Given the description of an element on the screen output the (x, y) to click on. 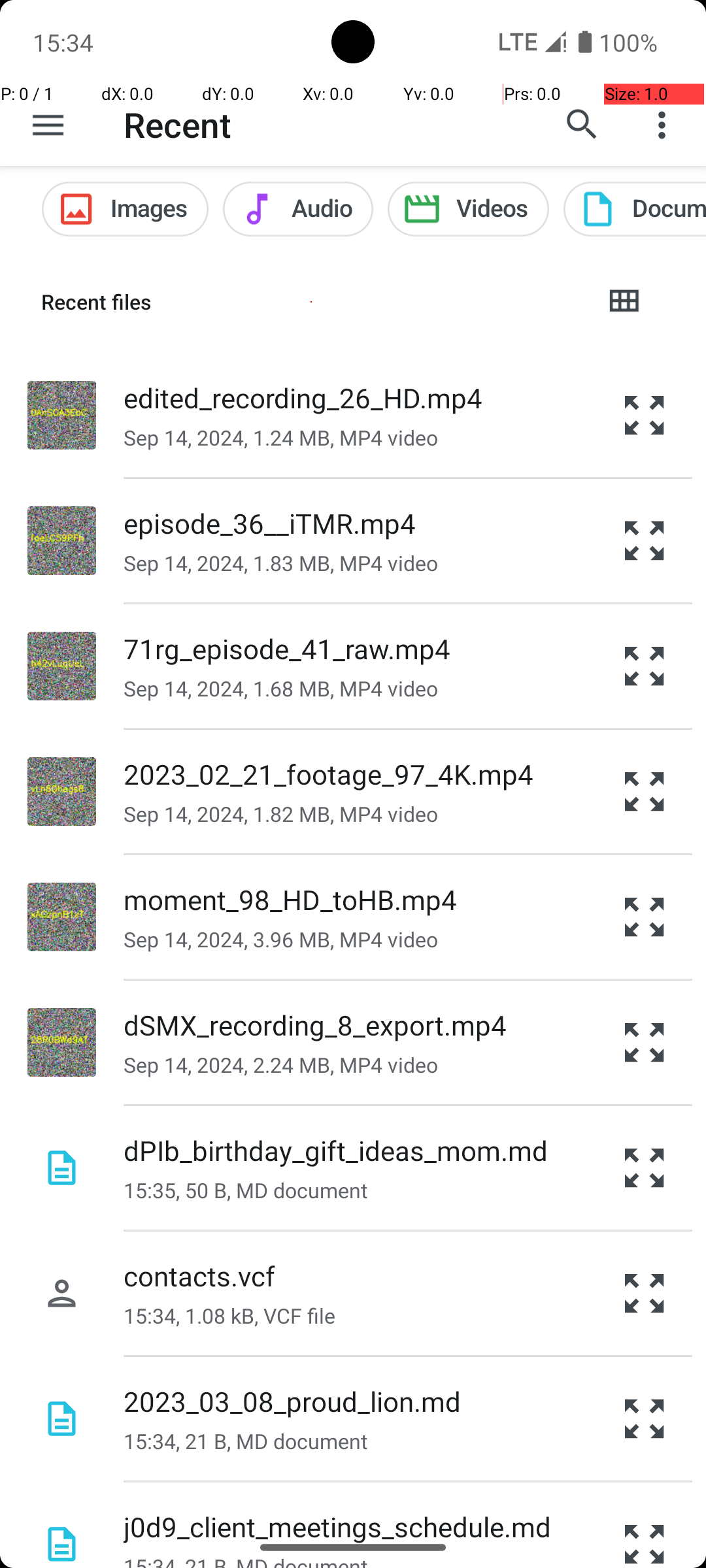
edited_recording_26_HD.mp4 Element type: android.widget.TextView (303, 397)
Sep 14, 2024, 1.24 MB, MP4 video Element type: android.widget.TextView (280, 437)
Preview the file edited_recording_26_HD.mp4 Element type: android.widget.FrameLayout (644, 414)
episode_36__iTMR.mp4 Element type: android.widget.TextView (269, 522)
Sep 14, 2024, 1.83 MB, MP4 video Element type: android.widget.TextView (280, 562)
Preview the file episode_36__iTMR.mp4 Element type: android.widget.FrameLayout (644, 540)
71rg_episode_41_raw.mp4 Element type: android.widget.TextView (287, 648)
Sep 14, 2024, 1.68 MB, MP4 video Element type: android.widget.TextView (280, 688)
Preview the file 71rg_episode_41_raw.mp4 Element type: android.widget.FrameLayout (644, 665)
2023_02_21_footage_97_4K.mp4 Element type: android.widget.TextView (328, 773)
Sep 14, 2024, 1.82 MB, MP4 video Element type: android.widget.TextView (280, 813)
Preview the file 2023_02_21_footage_97_4K.mp4 Element type: android.widget.FrameLayout (644, 791)
moment_98_HD_toHB.mp4 Element type: android.widget.TextView (289, 898)
Sep 14, 2024, 3.96 MB, MP4 video Element type: android.widget.TextView (280, 939)
Preview the file moment_98_HD_toHB.mp4 Element type: android.widget.FrameLayout (644, 916)
dSMX_recording_8_export.mp4 Element type: android.widget.TextView (314, 1024)
Sep 14, 2024, 2.24 MB, MP4 video Element type: android.widget.TextView (280, 1064)
Preview the file dSMX_recording_8_export.mp4 Element type: android.widget.FrameLayout (644, 1042)
dPIb_birthday_gift_ideas_mom.md Element type: android.widget.TextView (335, 1149)
15:35, 50 B, MD document Element type: android.widget.TextView (245, 1190)
Preview the file dPIb_birthday_gift_ideas_mom.md Element type: android.widget.FrameLayout (644, 1167)
contacts.vcf Element type: android.widget.TextView (199, 1275)
15:34, 1.08 kB, VCF file Element type: android.widget.TextView (229, 1315)
Preview the file contacts.vcf Element type: android.widget.FrameLayout (644, 1293)
2023_03_08_proud_lion.md Element type: android.widget.TextView (291, 1400)
15:34, 21 B, MD document Element type: android.widget.TextView (245, 1440)
Preview the file 2023_03_08_proud_lion.md Element type: android.widget.FrameLayout (644, 1418)
j0d9_client_meetings_schedule.md Element type: android.widget.TextView (337, 1526)
Preview the file j0d9_client_meetings_schedule.md Element type: android.widget.FrameLayout (644, 1525)
